Given the description of an element on the screen output the (x, y) to click on. 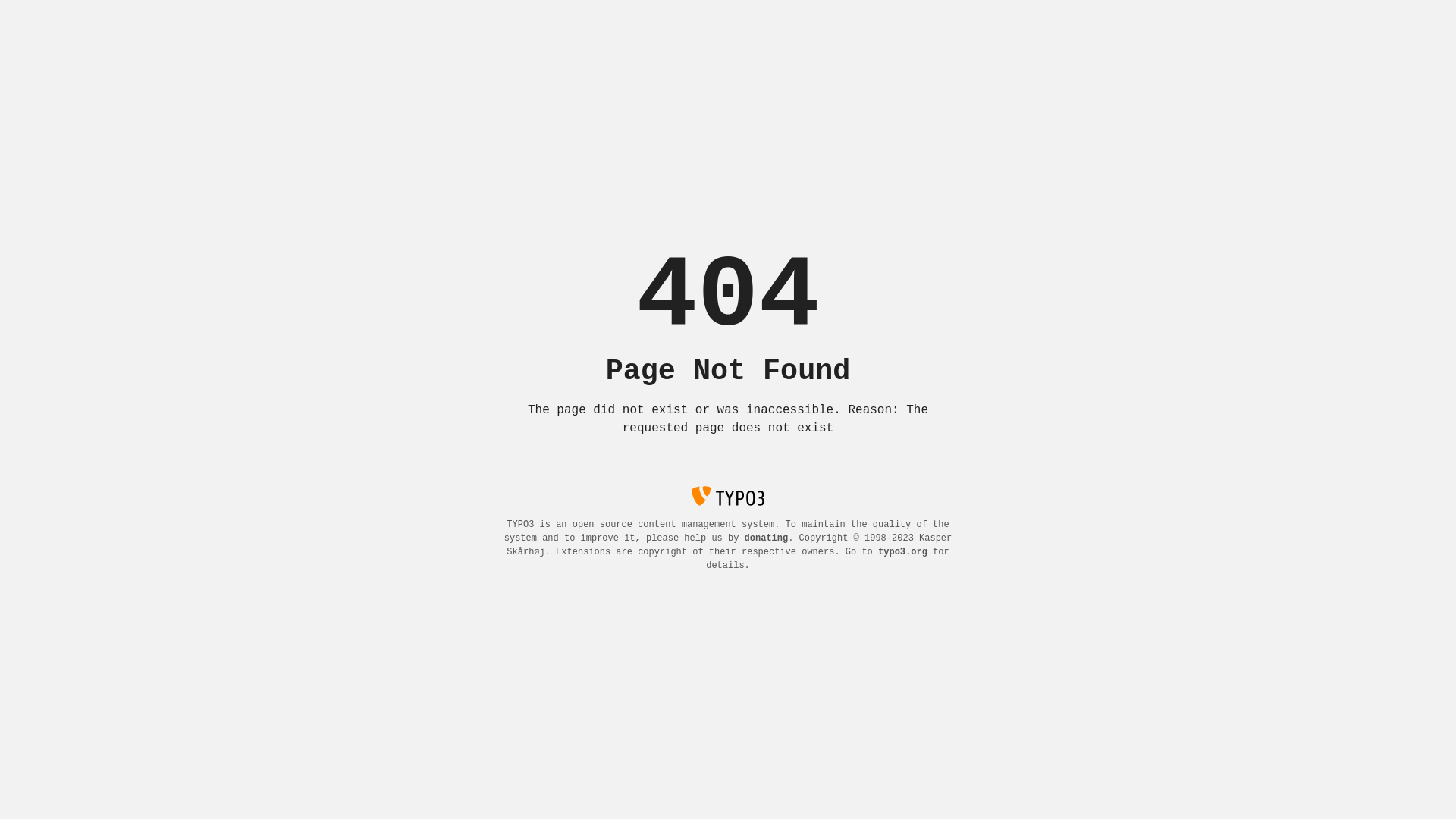
donating Element type: text (766, 538)
typo3.org Element type: text (902, 551)
